Given the description of an element on the screen output the (x, y) to click on. 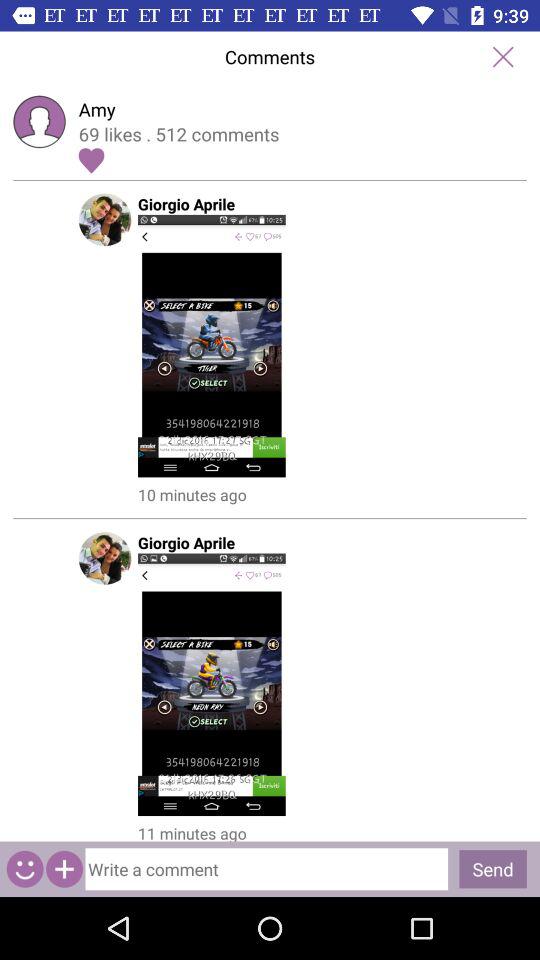
close comments window (502, 56)
